Given the description of an element on the screen output the (x, y) to click on. 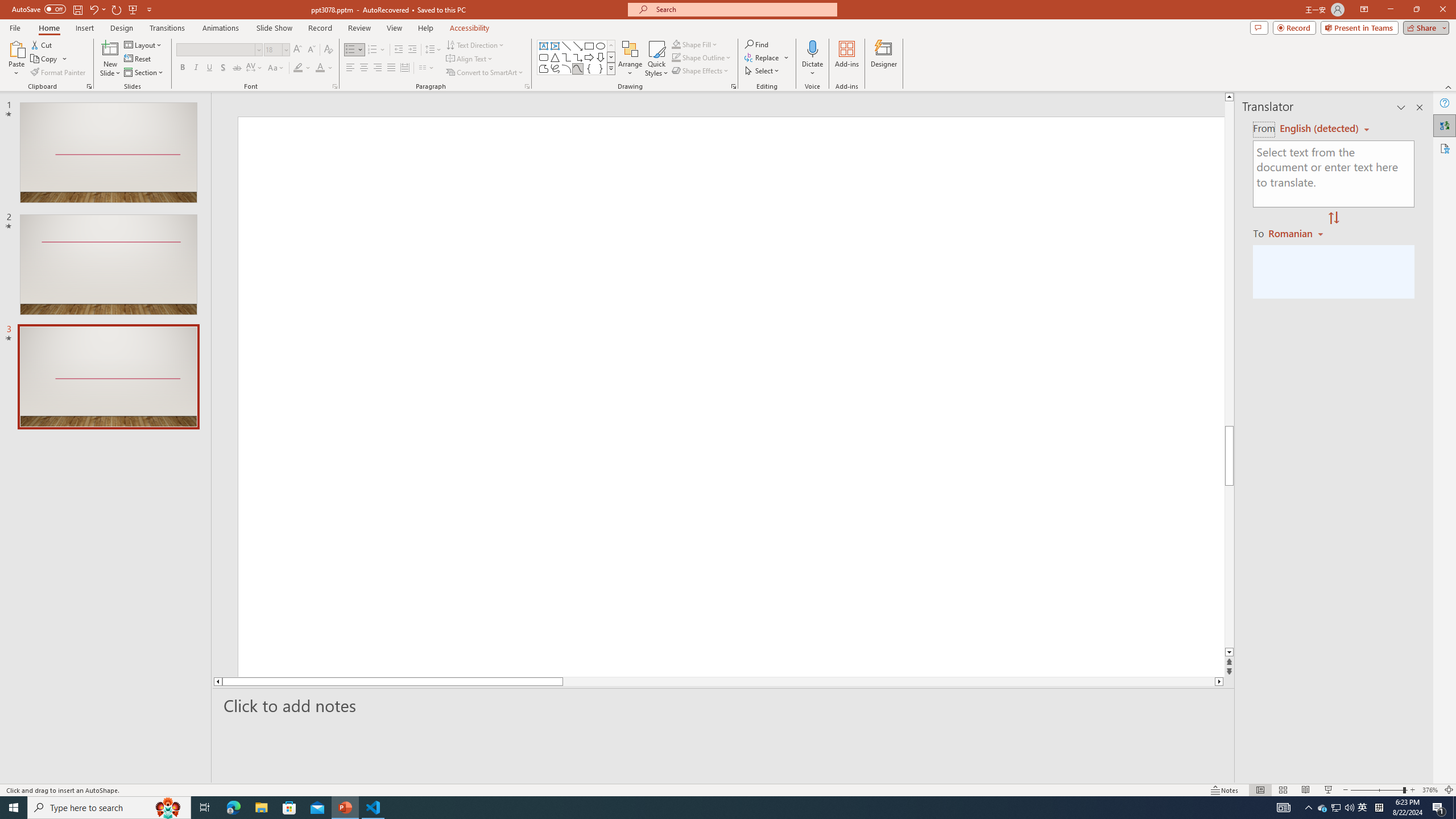
Zoom 376% (1430, 790)
